Given the description of an element on the screen output the (x, y) to click on. 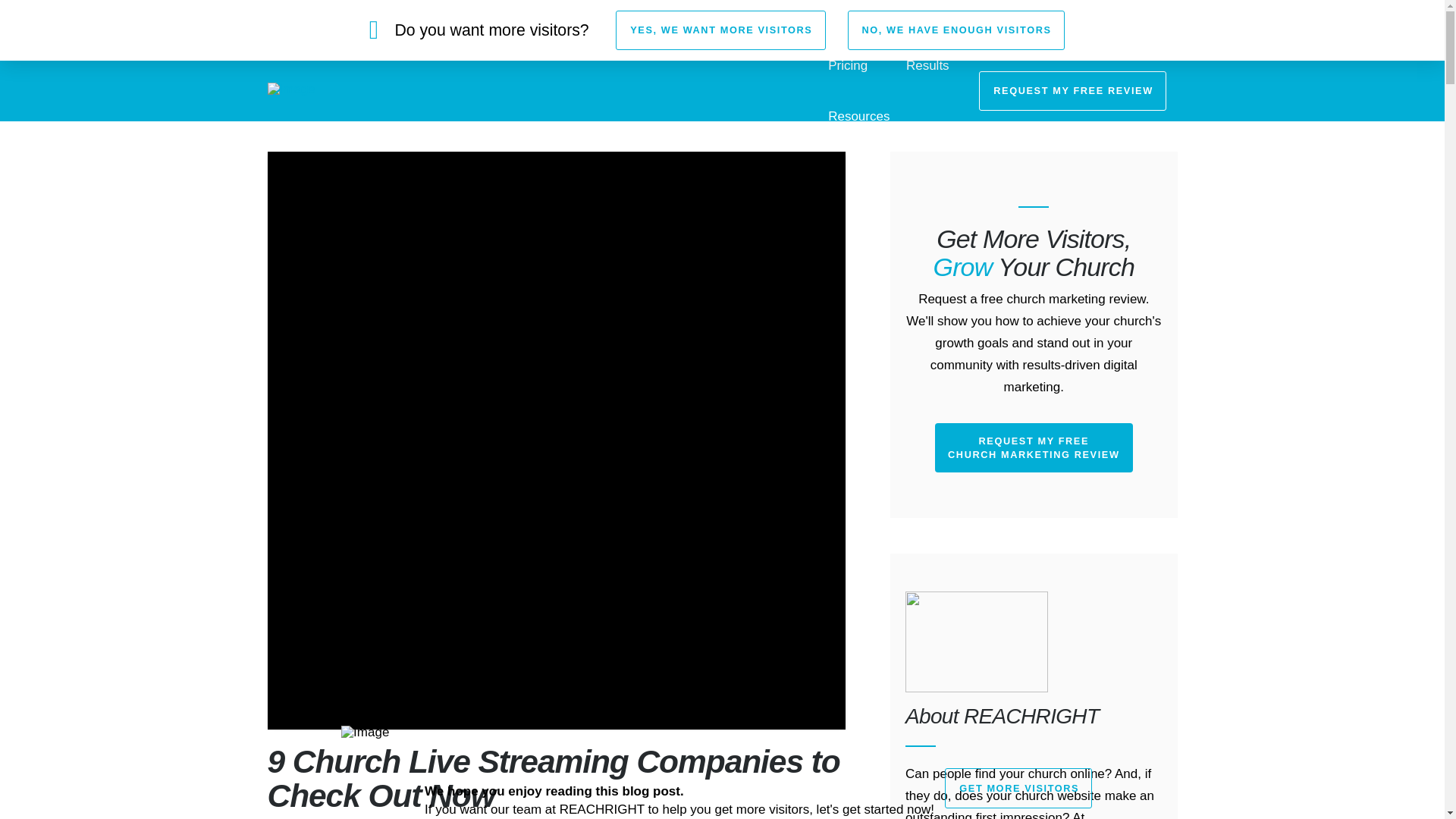
NO, WE HAVE ENOUGH VISITORS (955, 29)
Results (927, 65)
REQUEST MY FREE REVIEW (1072, 90)
YES, WE WANT MORE VISITORS (720, 29)
Pricing (847, 65)
